Given the description of an element on the screen output the (x, y) to click on. 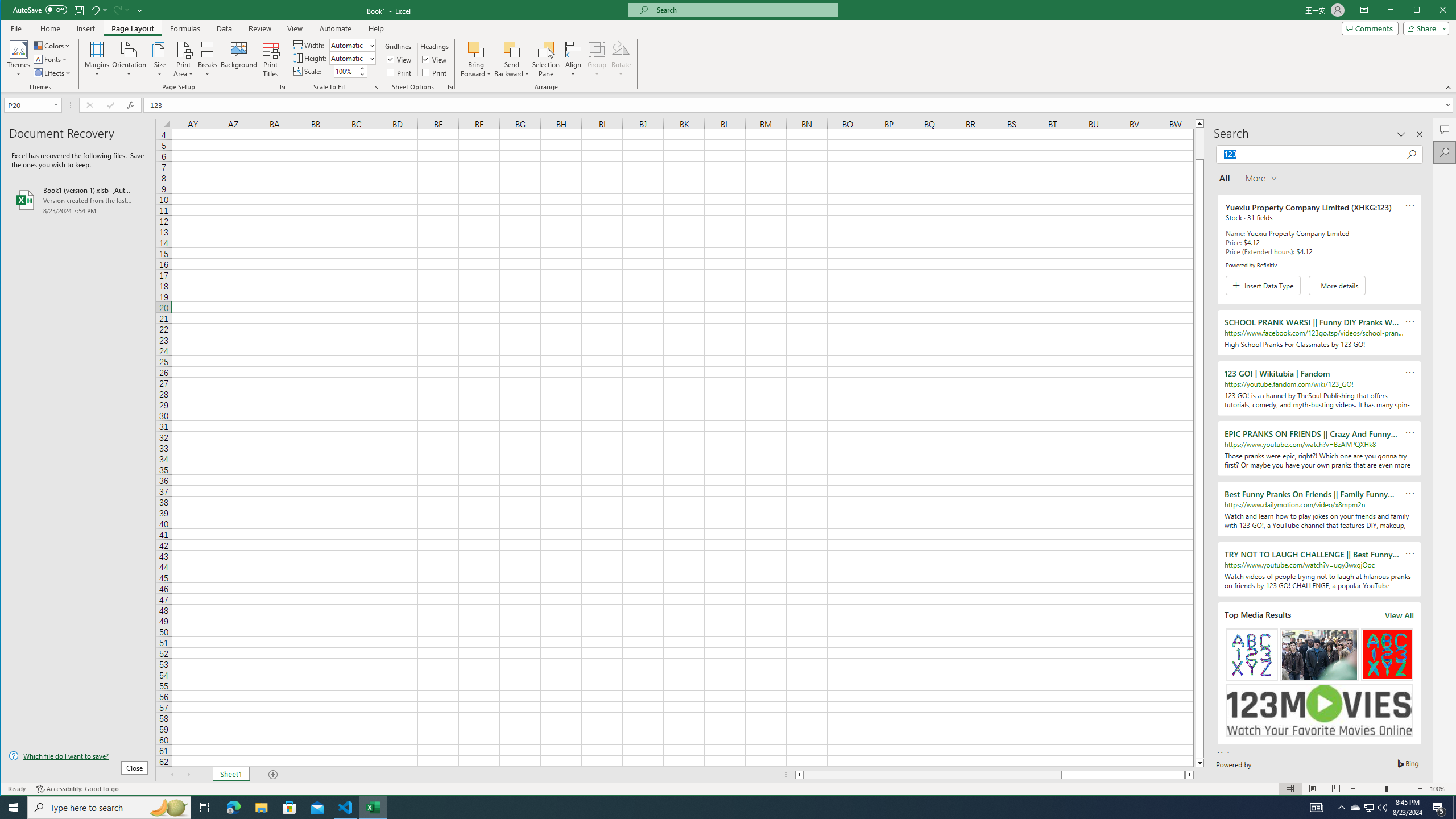
Class: MsoCommandBar (728, 45)
Which file do I want to save? (78, 755)
Show desktop (1454, 807)
Search (1444, 151)
Bring Forward (476, 59)
Align (573, 59)
Ribbon Display Options (1364, 9)
Effects (53, 72)
Share (1423, 27)
Print (434, 72)
Data (224, 28)
Close pane (1419, 133)
User Promoted Notification Area (1368, 807)
Page left (932, 774)
